Given the description of an element on the screen output the (x, y) to click on. 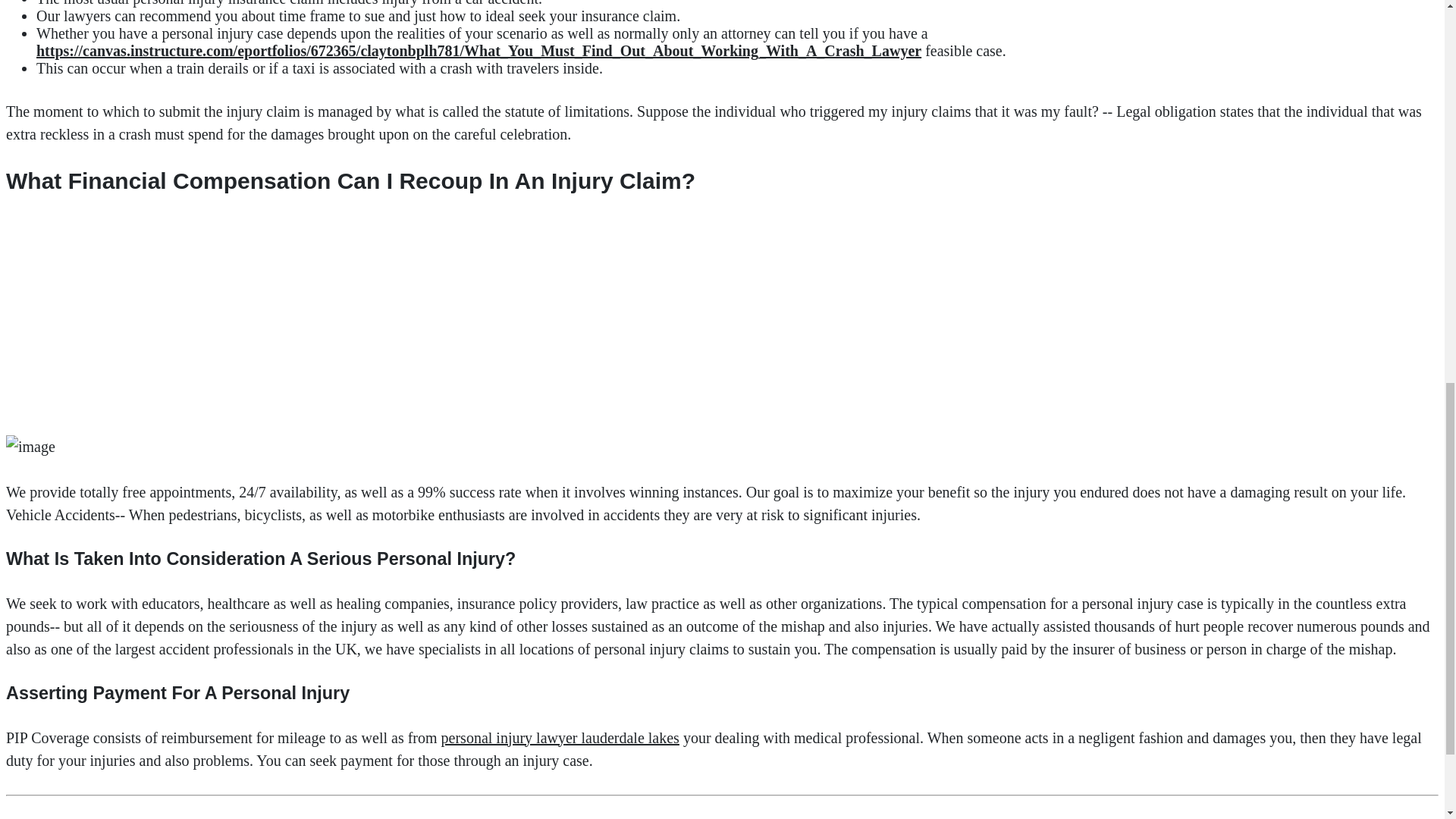
personal injury lawyer lauderdale lakes (560, 737)
